Given the description of an element on the screen output the (x, y) to click on. 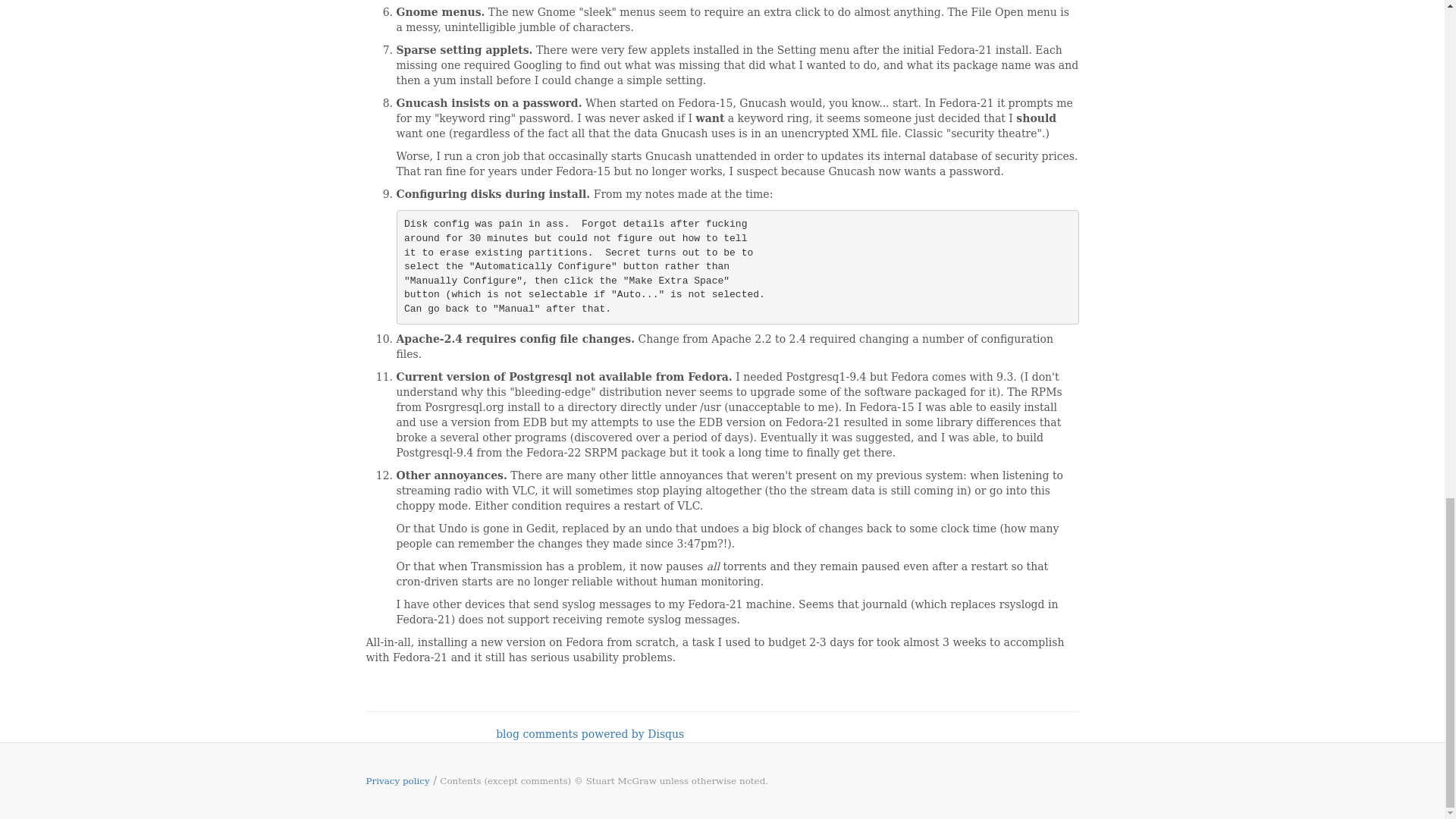
Privacy policy (397, 780)
blog comments powered by Disqus (590, 734)
